Given the description of an element on the screen output the (x, y) to click on. 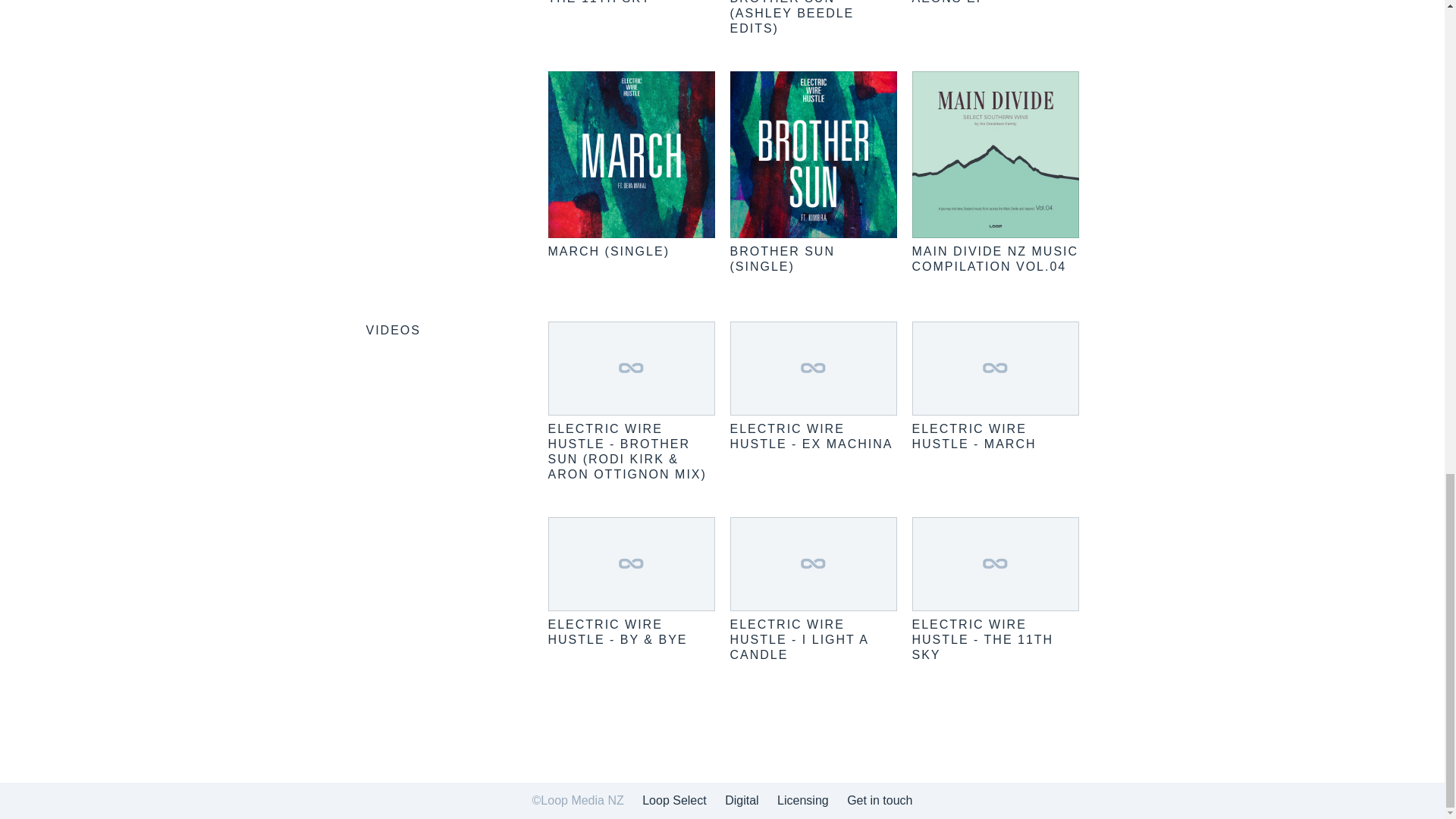
View original (973, 436)
View original (630, 563)
View original (981, 639)
View original (798, 639)
View original (810, 436)
THE 11TH SKY (598, 2)
AEONS EP (948, 2)
View original (994, 563)
View original (617, 632)
View original (994, 368)
View original (812, 563)
MAIN DIVIDE NZ MUSIC COMPILATION VOL.04 (994, 258)
View original (630, 368)
View original (626, 451)
View original (812, 368)
